Given the description of an element on the screen output the (x, y) to click on. 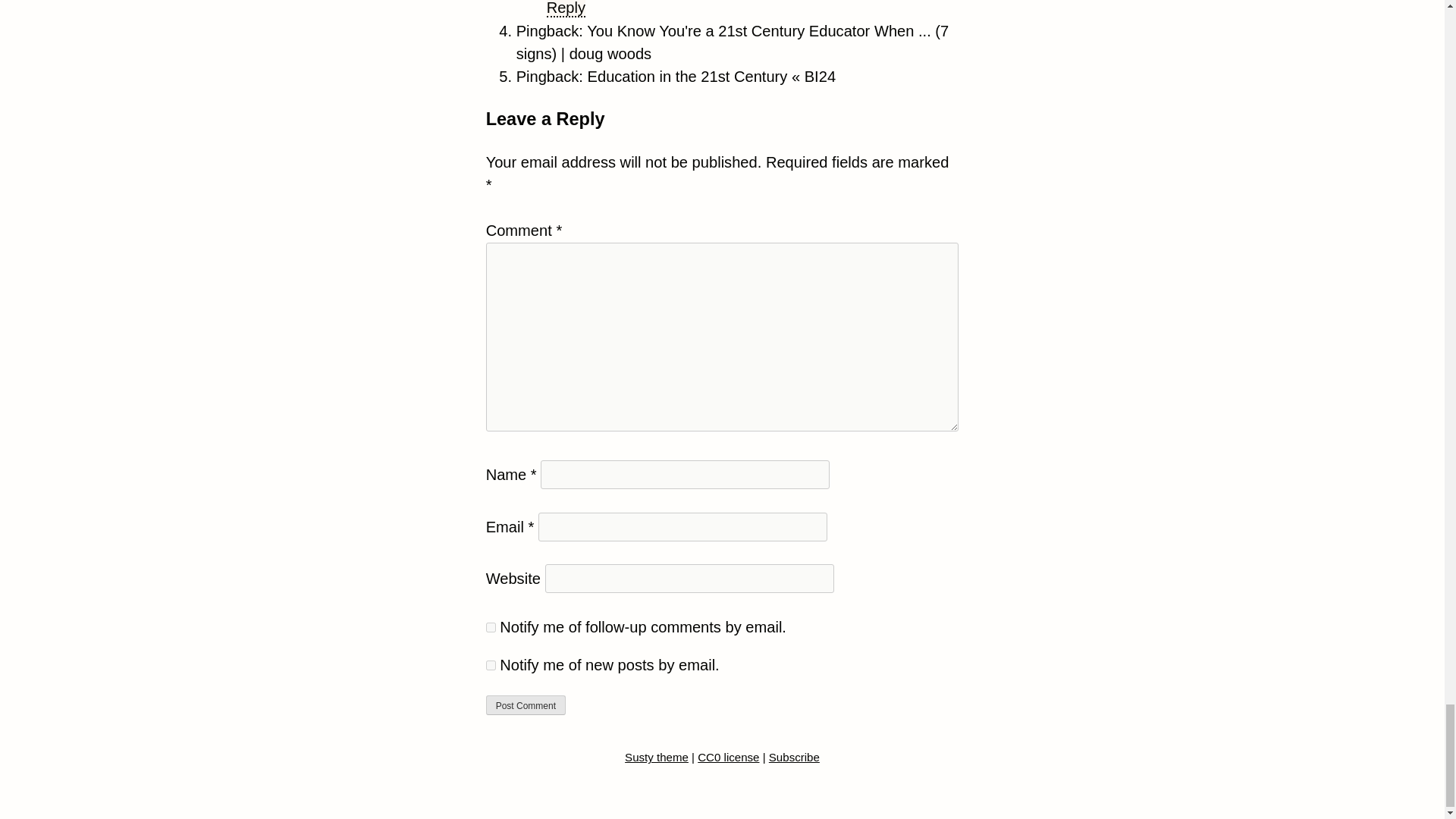
Post Comment (526, 704)
subscribe (491, 665)
subscribe (491, 627)
